Given the description of an element on the screen output the (x, y) to click on. 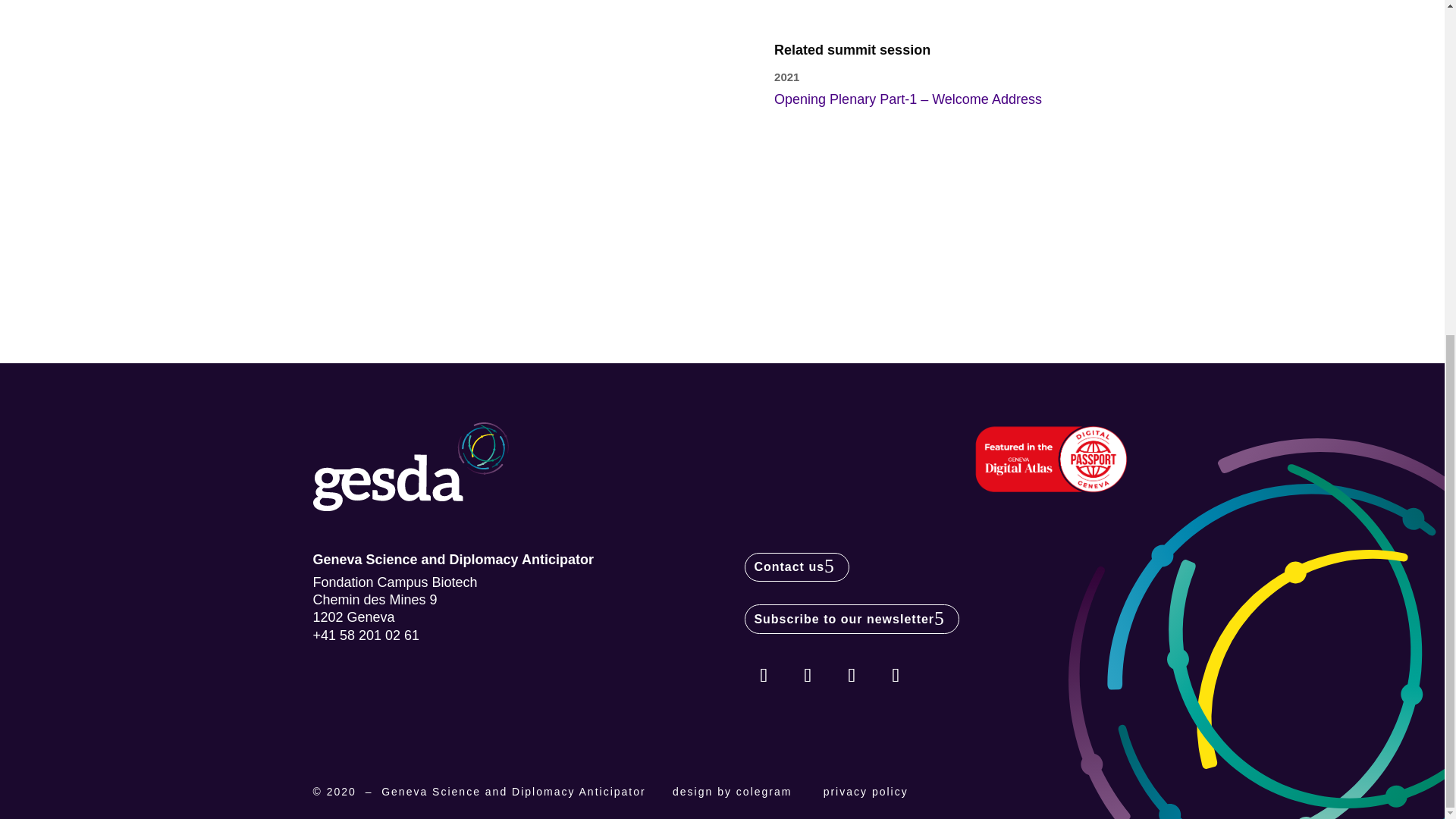
Subscribe to our newsletter (851, 618)
logo-gesda-footer (410, 466)
Follow on Flickr (895, 675)
Follow on Youtube (851, 675)
Follow on LinkedIn (763, 675)
privacy policy (866, 791)
colegram (764, 791)
Contact us (796, 567)
Follow on X (808, 675)
